Given the description of an element on the screen output the (x, y) to click on. 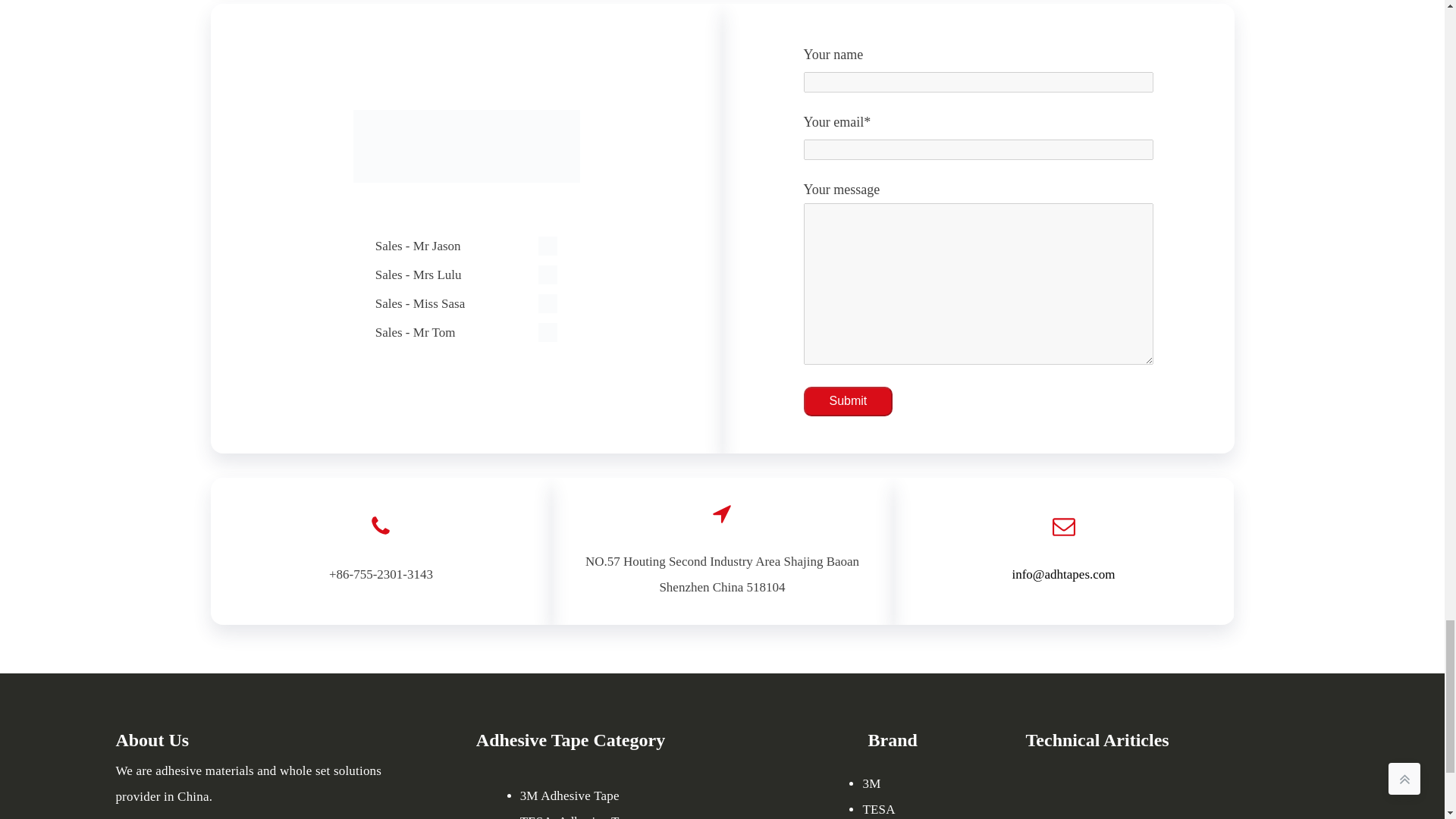
Submit (848, 400)
Submit (848, 400)
